Given the description of an element on the screen output the (x, y) to click on. 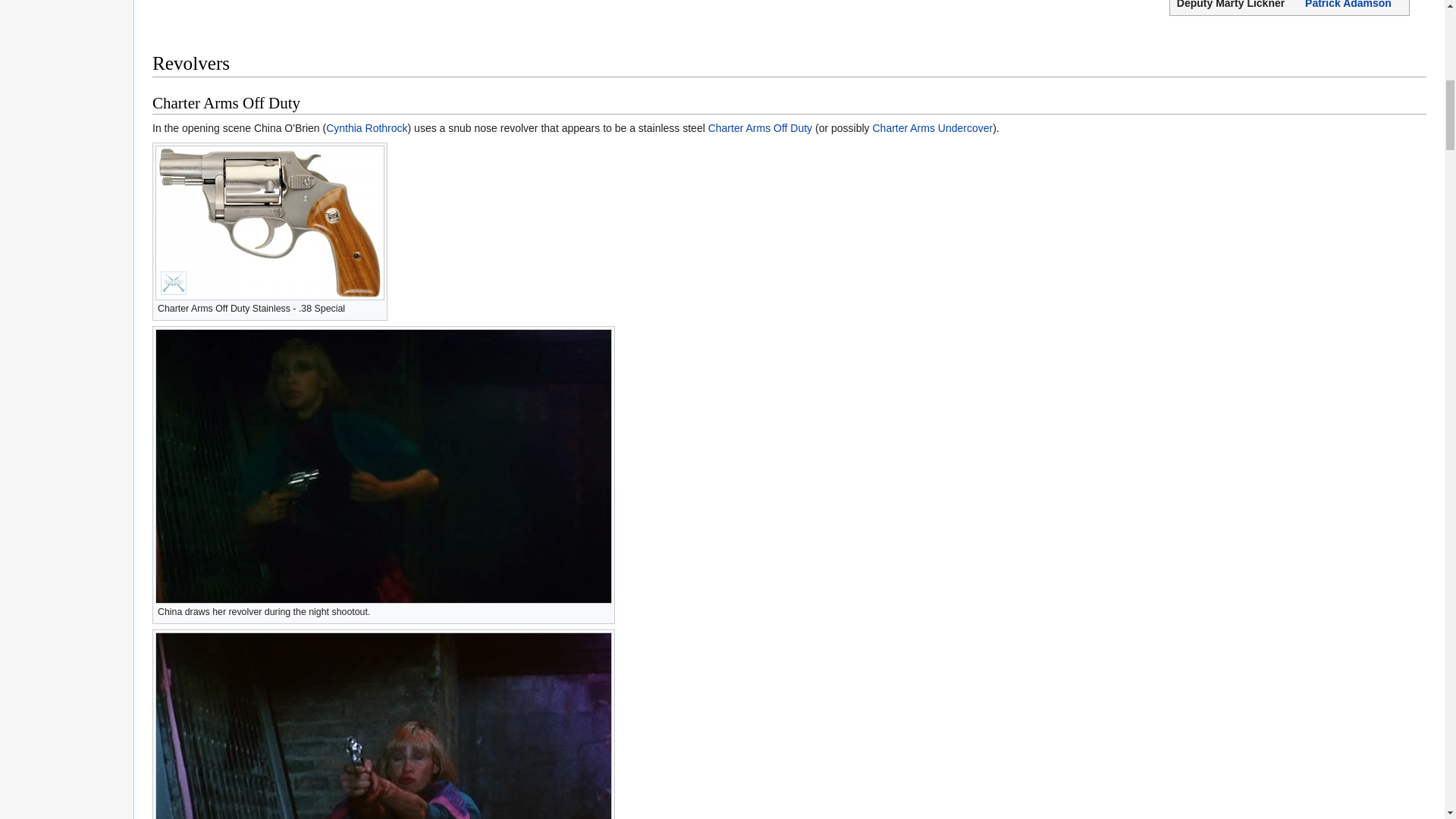
Enlarge (376, 306)
Charter Arms Undercover (932, 128)
Cynthia Rothrock (366, 128)
Patrick Adamson (1347, 4)
Patrick Adamson (1347, 4)
Enlarge (604, 610)
Charter Arms Off Duty (759, 128)
Cynthia Rothrock (366, 128)
Charter Arms Off Duty (759, 128)
Charter Arms Undercover (932, 128)
